Given the description of an element on the screen output the (x, y) to click on. 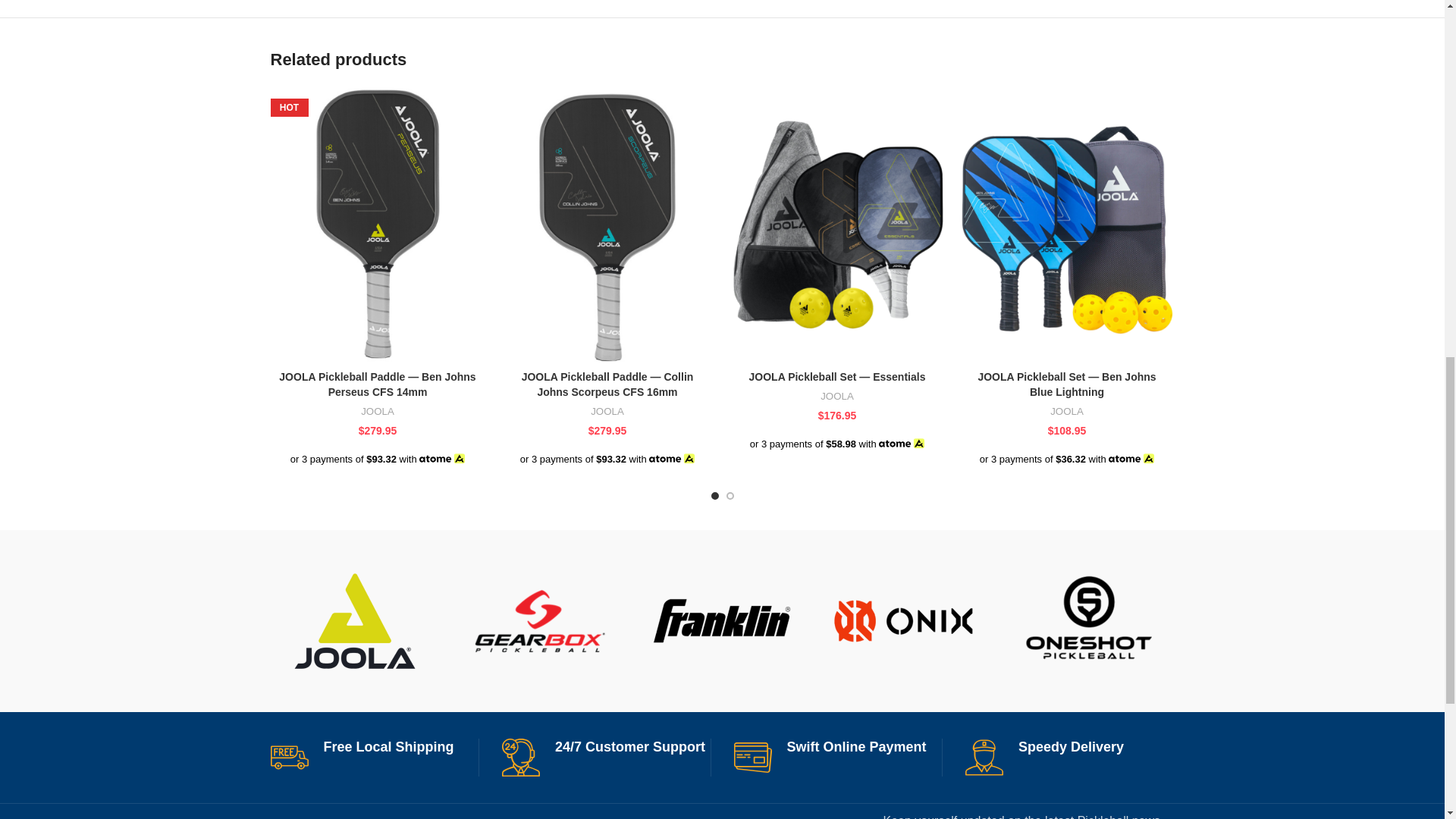
joola-logo-brands (354, 620)
gearbox-logo (538, 620)
retail-free-shipping (288, 757)
franklin-logo (721, 620)
